Given the description of an element on the screen output the (x, y) to click on. 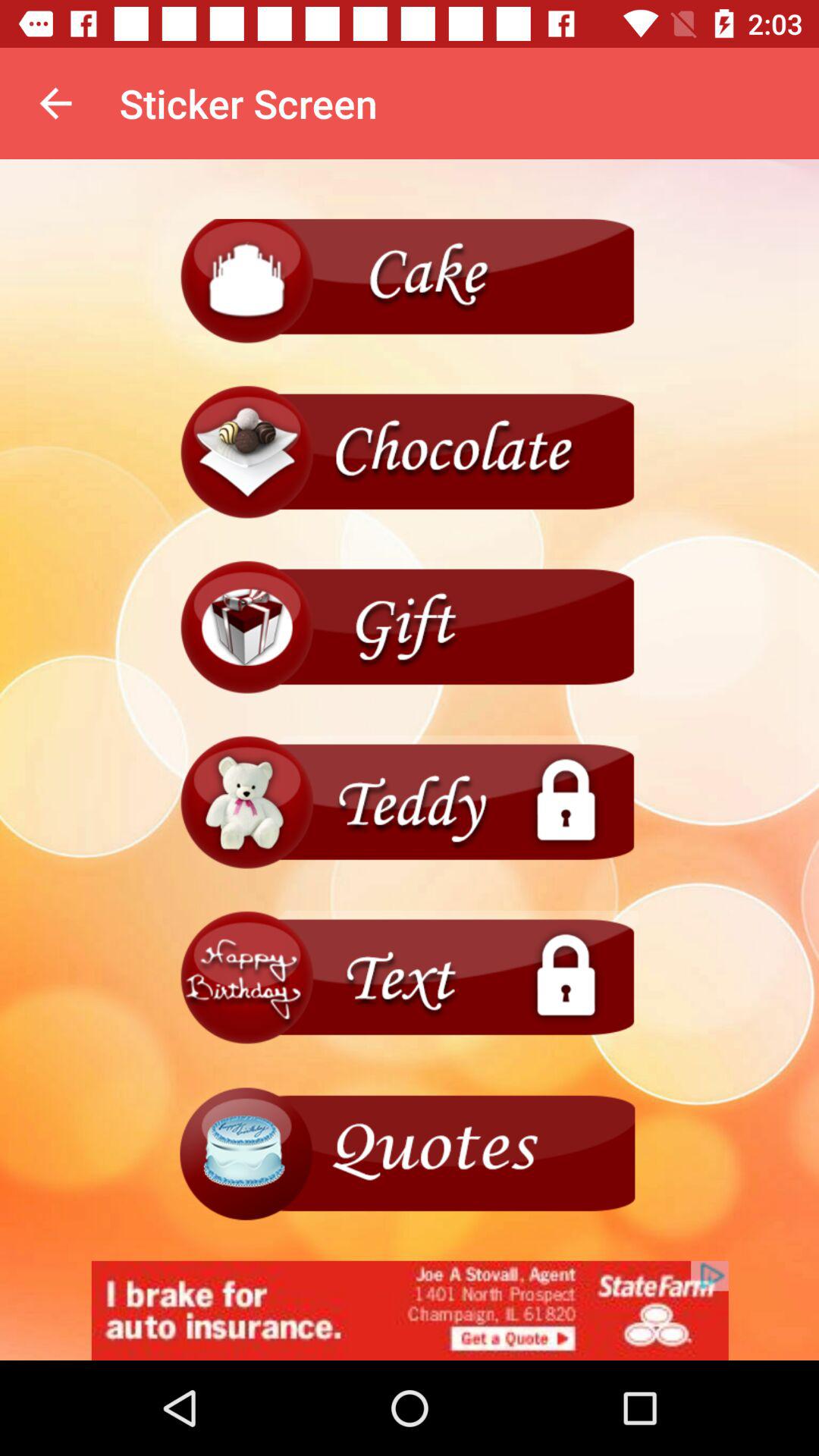
menu page (409, 802)
